Given the description of an element on the screen output the (x, y) to click on. 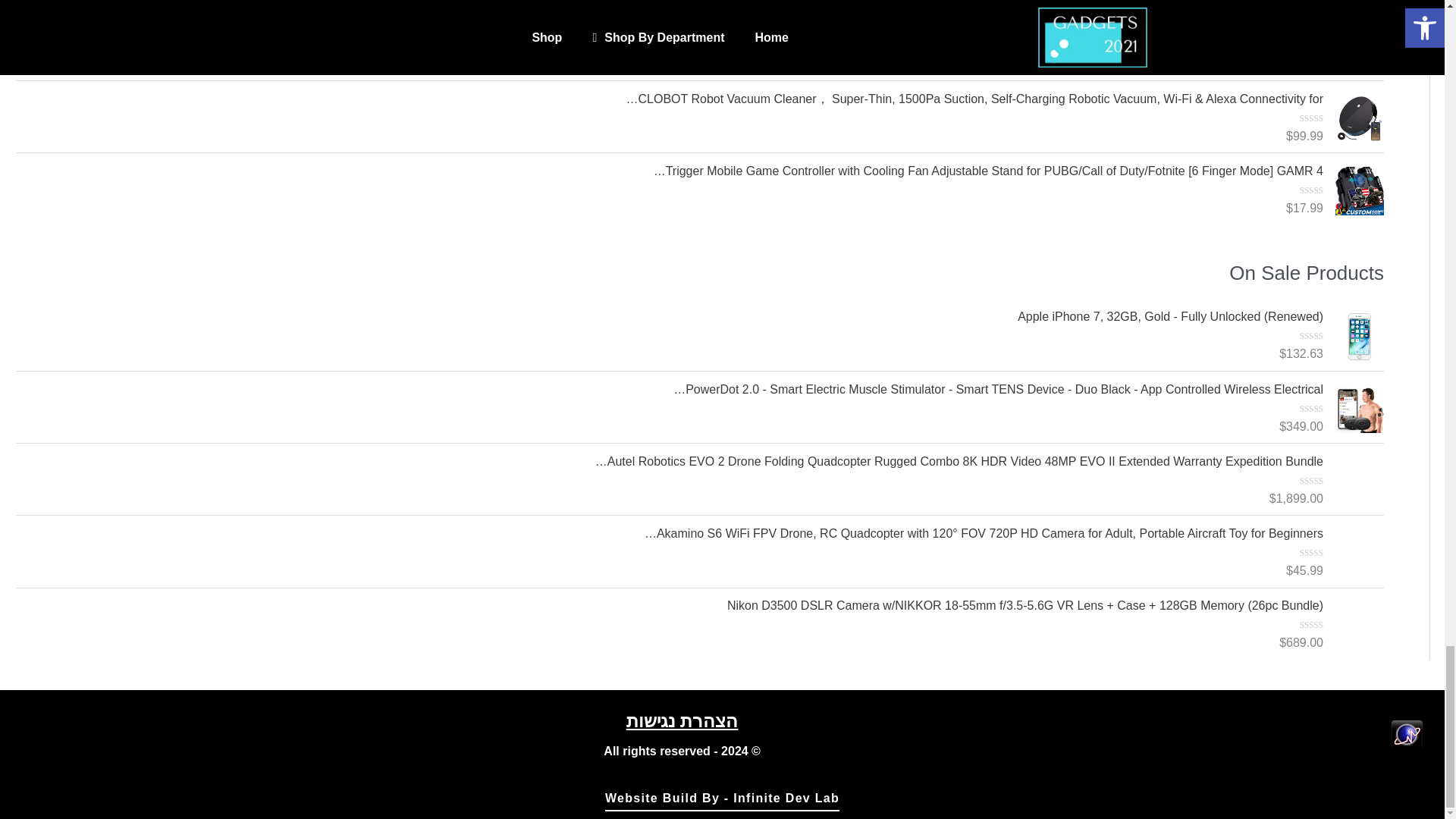
eXTReMe Tracker - Free Website Statistics (1406, 733)
